Given the description of an element on the screen output the (x, y) to click on. 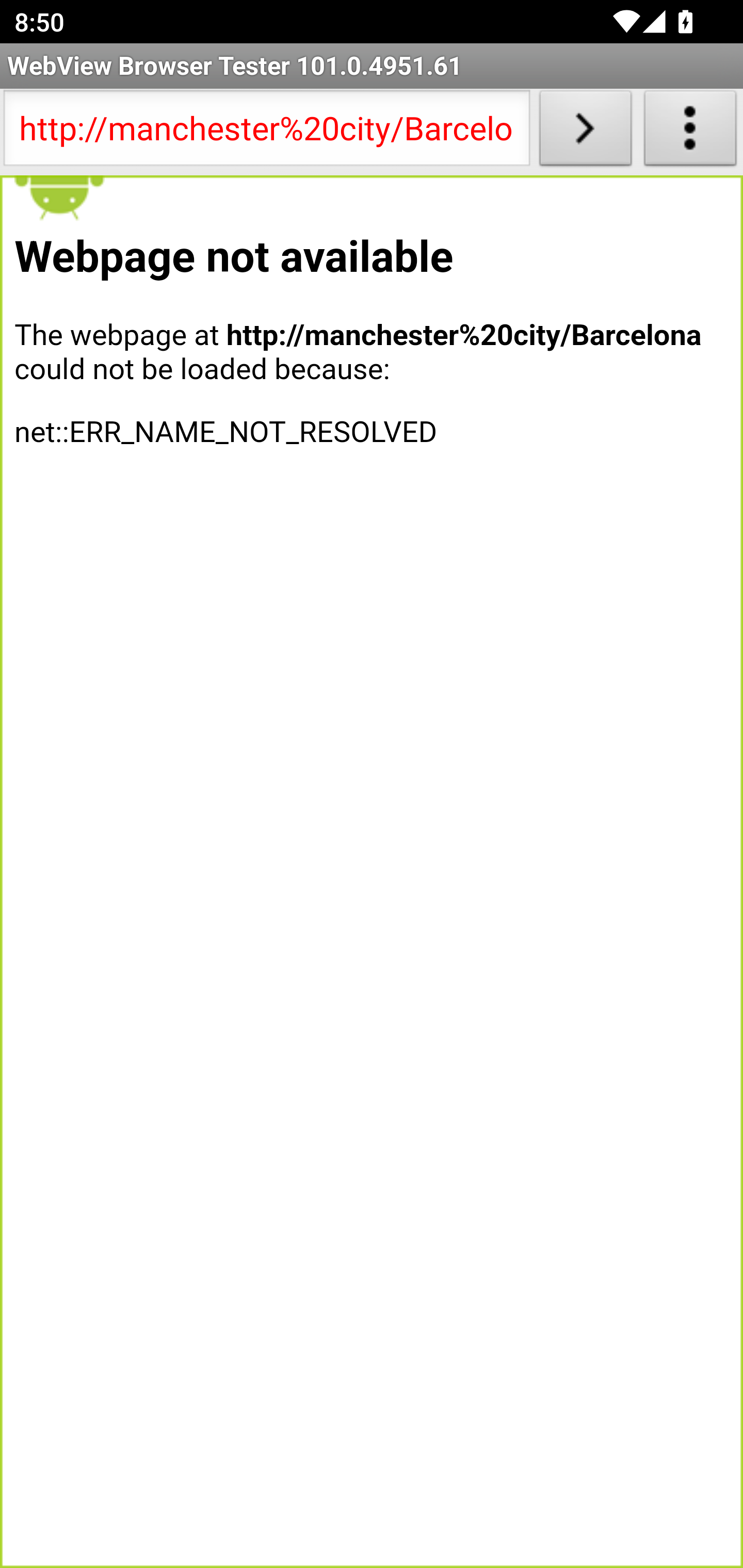
http://manchester%20city/Barcelona (266, 132)
Load URL (585, 132)
About WebView (690, 132)
